Given the description of an element on the screen output the (x, y) to click on. 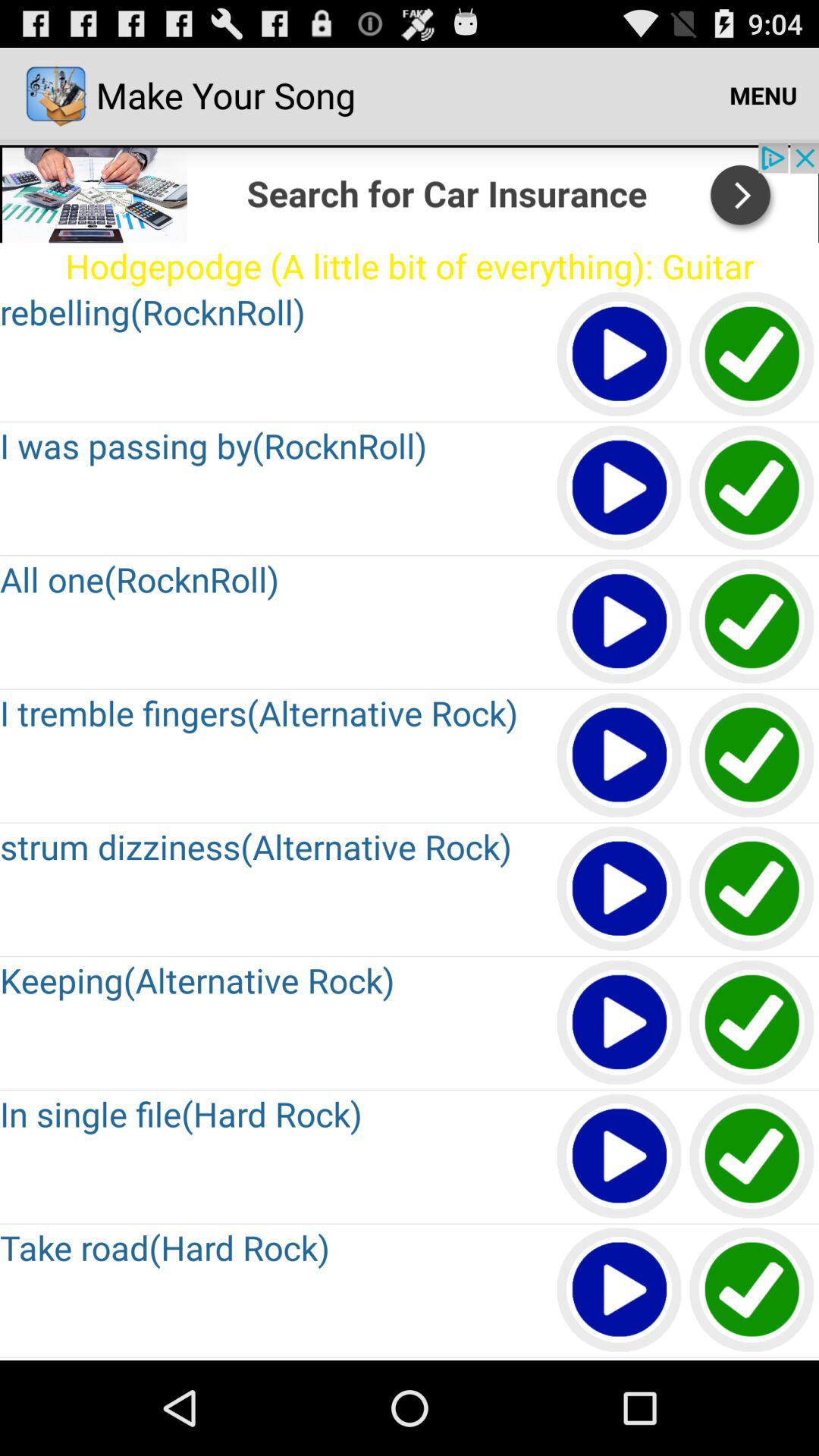
shalte (752, 1359)
